Given the description of an element on the screen output the (x, y) to click on. 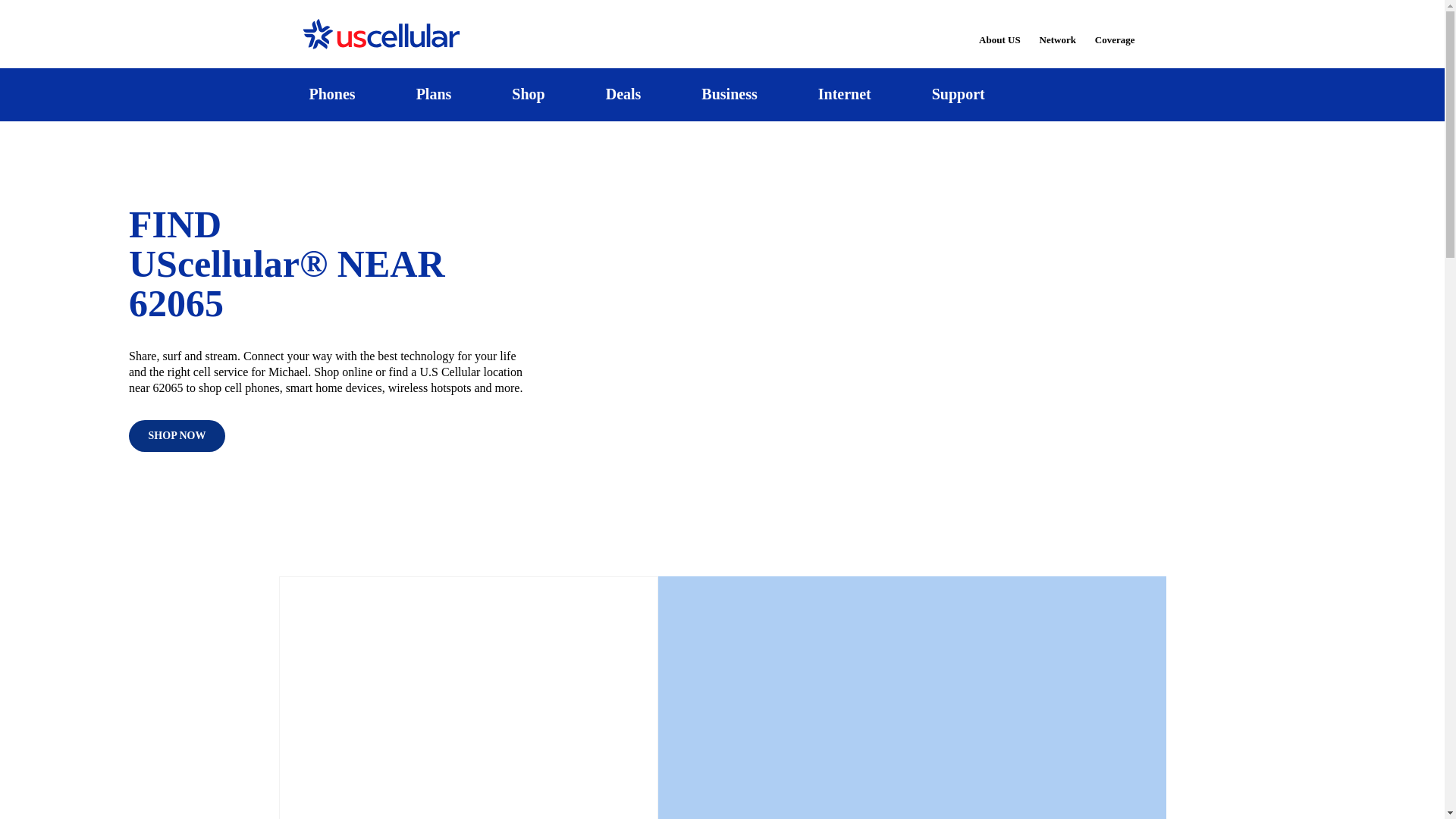
Support (957, 94)
About US (999, 30)
Plans (433, 94)
Coverage (1115, 29)
SHOP NOW (177, 436)
Phones (332, 94)
Internet (844, 94)
Deals (623, 94)
Business (729, 94)
Network (1057, 30)
